Given the description of an element on the screen output the (x, y) to click on. 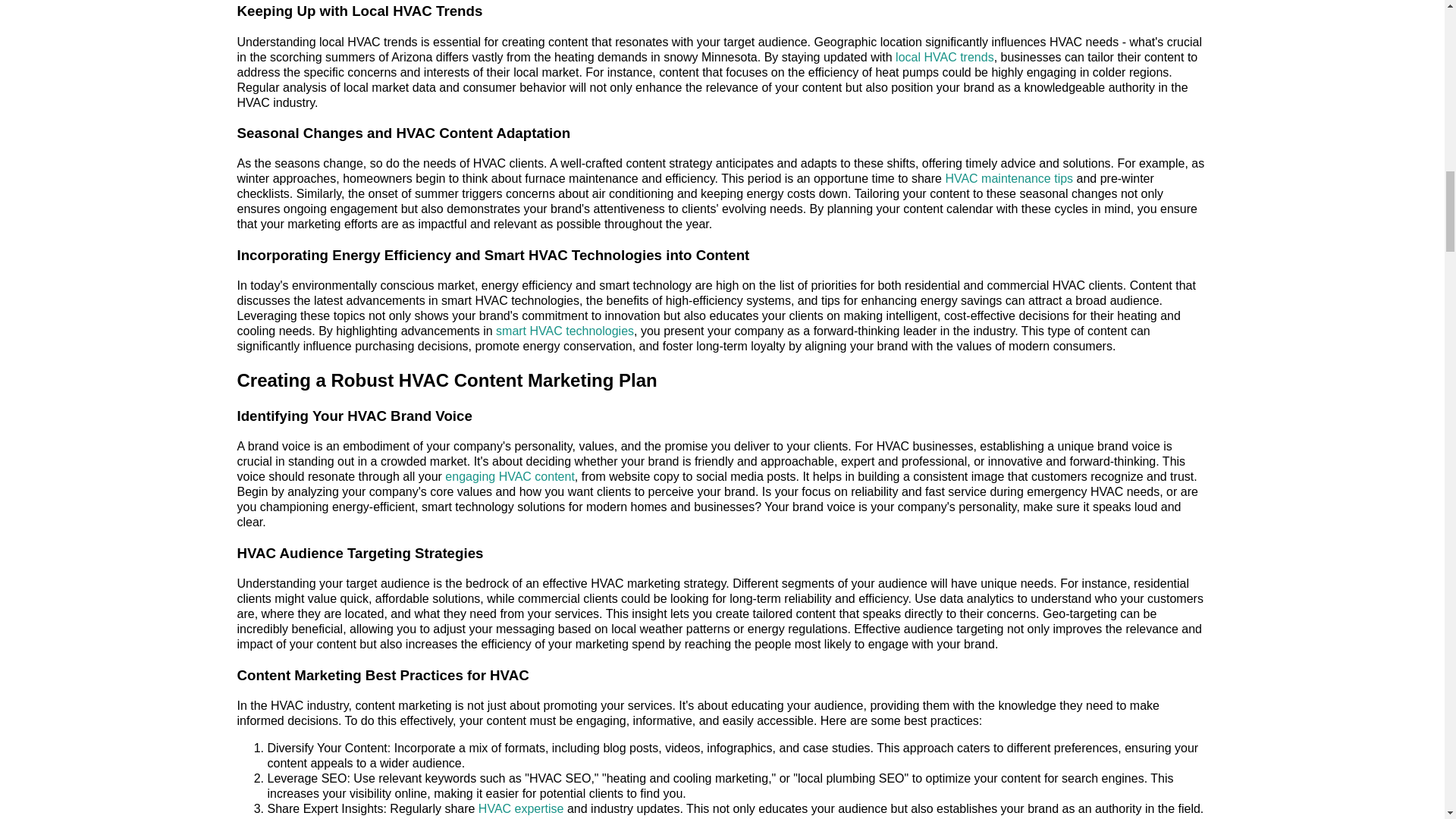
HVAC expertise (521, 808)
engaging HVAC content (509, 476)
local HVAC trends (944, 56)
HVAC maintenance tips (1008, 178)
smart HVAC technologies (564, 330)
